Given the description of an element on the screen output the (x, y) to click on. 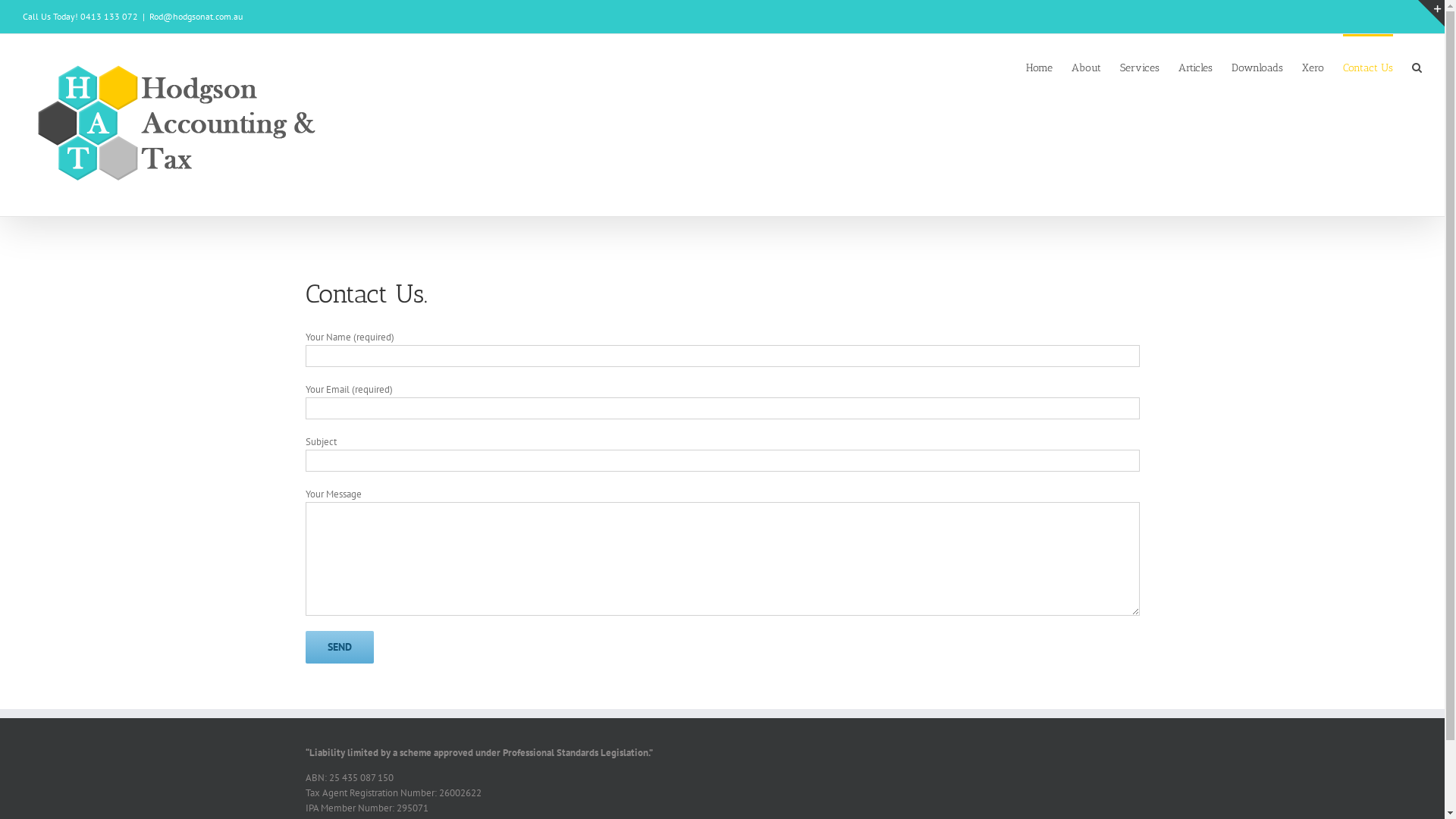
Services Element type: text (1139, 66)
About Element type: text (1086, 66)
Articles Element type: text (1195, 66)
Home Element type: text (1039, 66)
Downloads Element type: text (1257, 66)
Send Element type: text (338, 646)
Contact Us Element type: text (1368, 66)
Rod@hodgsonat.com.au Element type: text (195, 15)
Xero Element type: text (1313, 66)
